Given the description of an element on the screen output the (x, y) to click on. 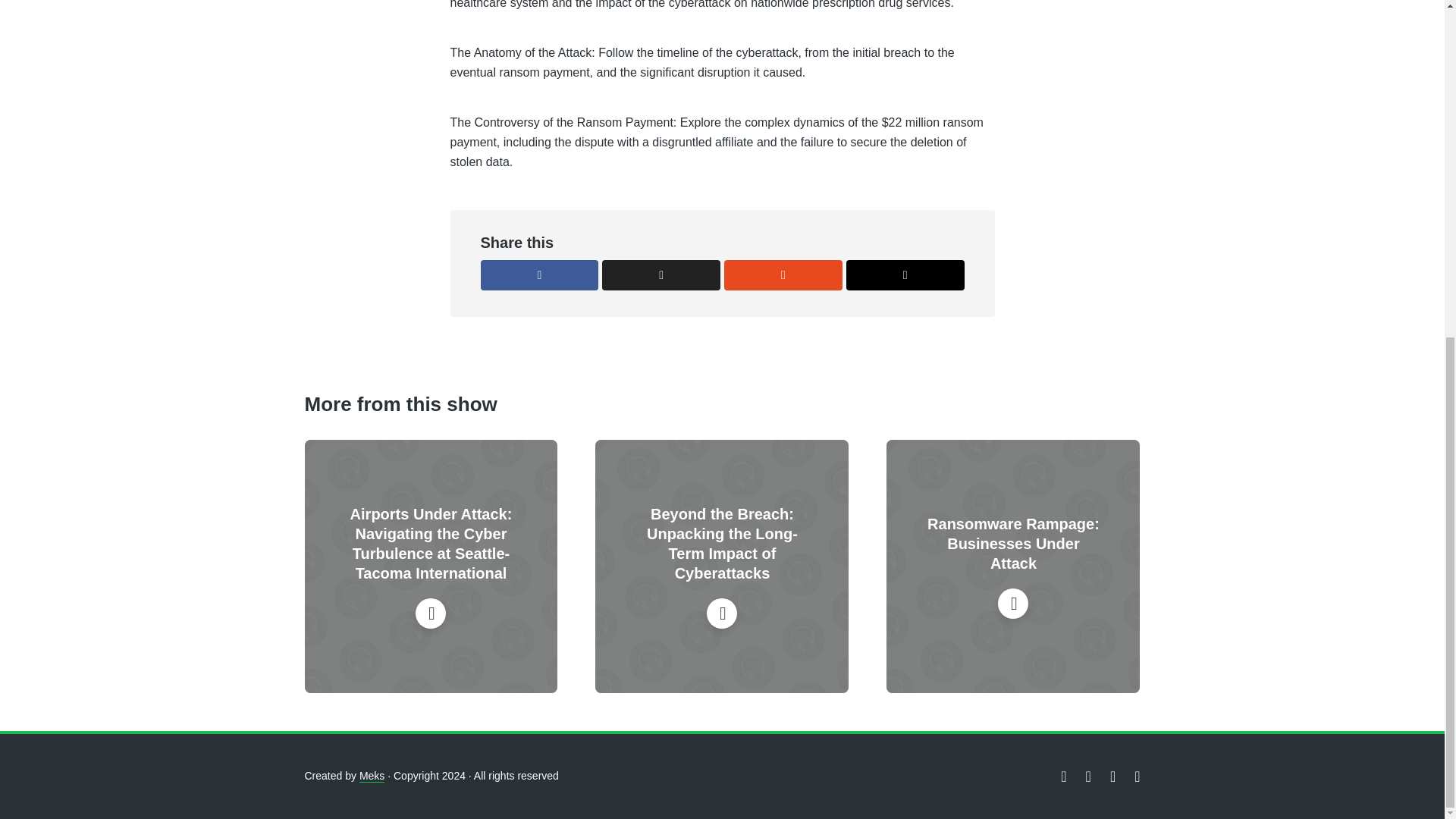
Subscribe (1361, 295)
Ransomware Rampage: Businesses Under Attack (1013, 543)
Meks (371, 775)
